Given the description of an element on the screen output the (x, y) to click on. 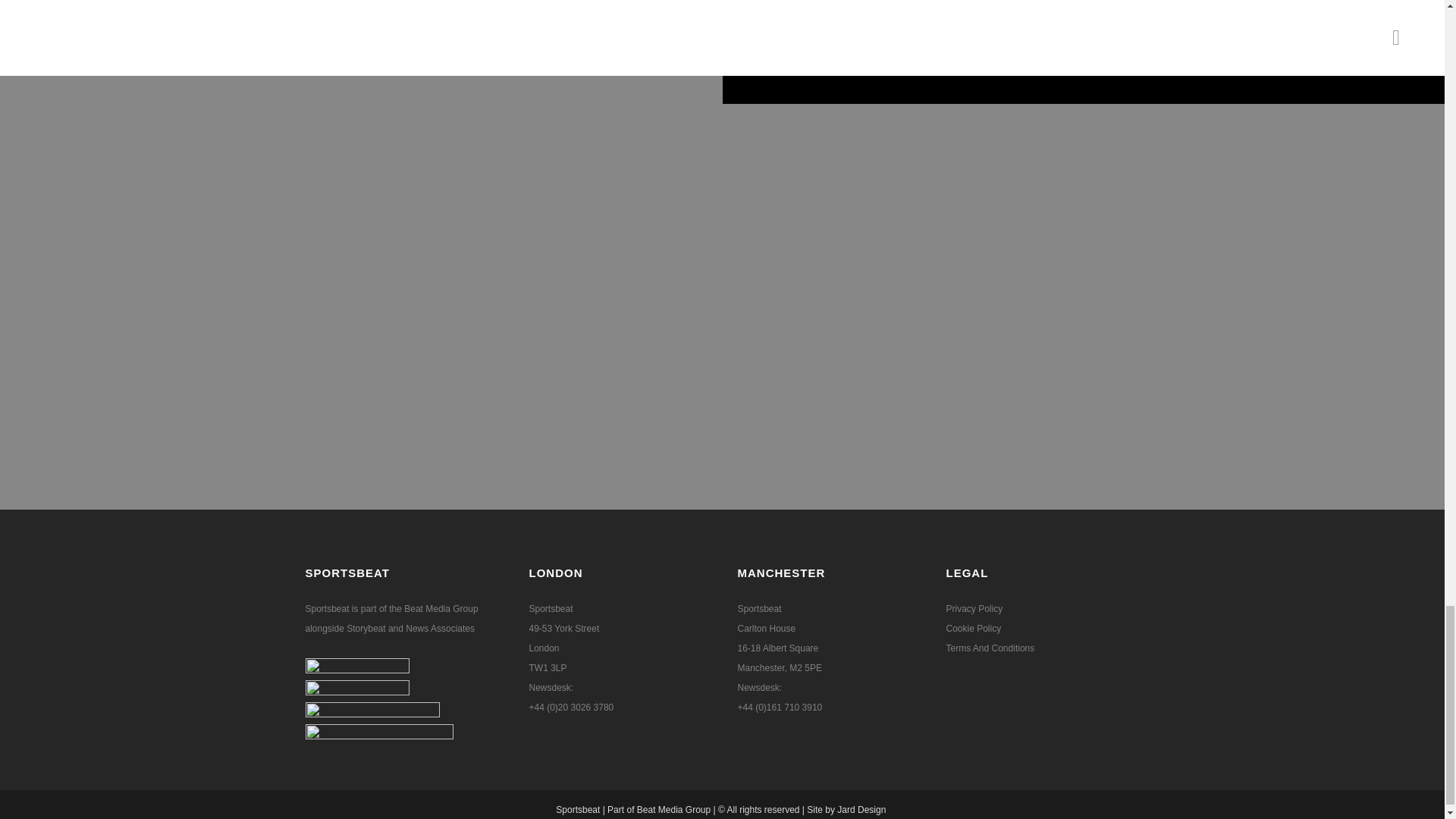
Beat Media Group (440, 608)
Sportsbeat (577, 809)
Cookie Policy (973, 628)
News Associates (440, 628)
Jard Design  (862, 809)
Terms And Conditions (990, 647)
Privacy Policy (974, 608)
Storybeat (367, 628)
Beat Media Group (673, 809)
